Given the description of an element on the screen output the (x, y) to click on. 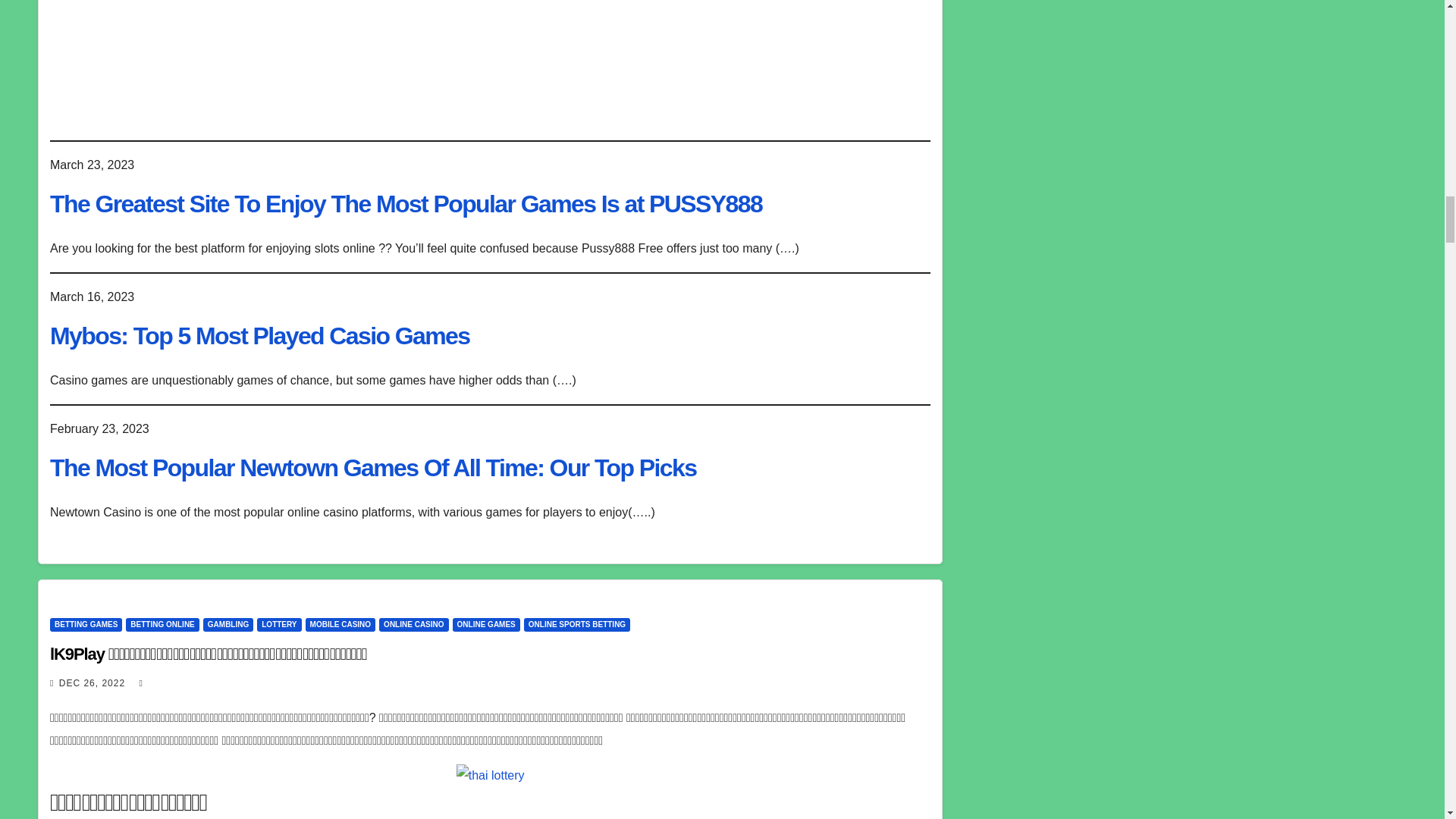
Mybos: Top 5 Most Played Casio Games (259, 335)
The Most Popular Newtown Games Of All Time: Our Top Picks (372, 467)
